Given the description of an element on the screen output the (x, y) to click on. 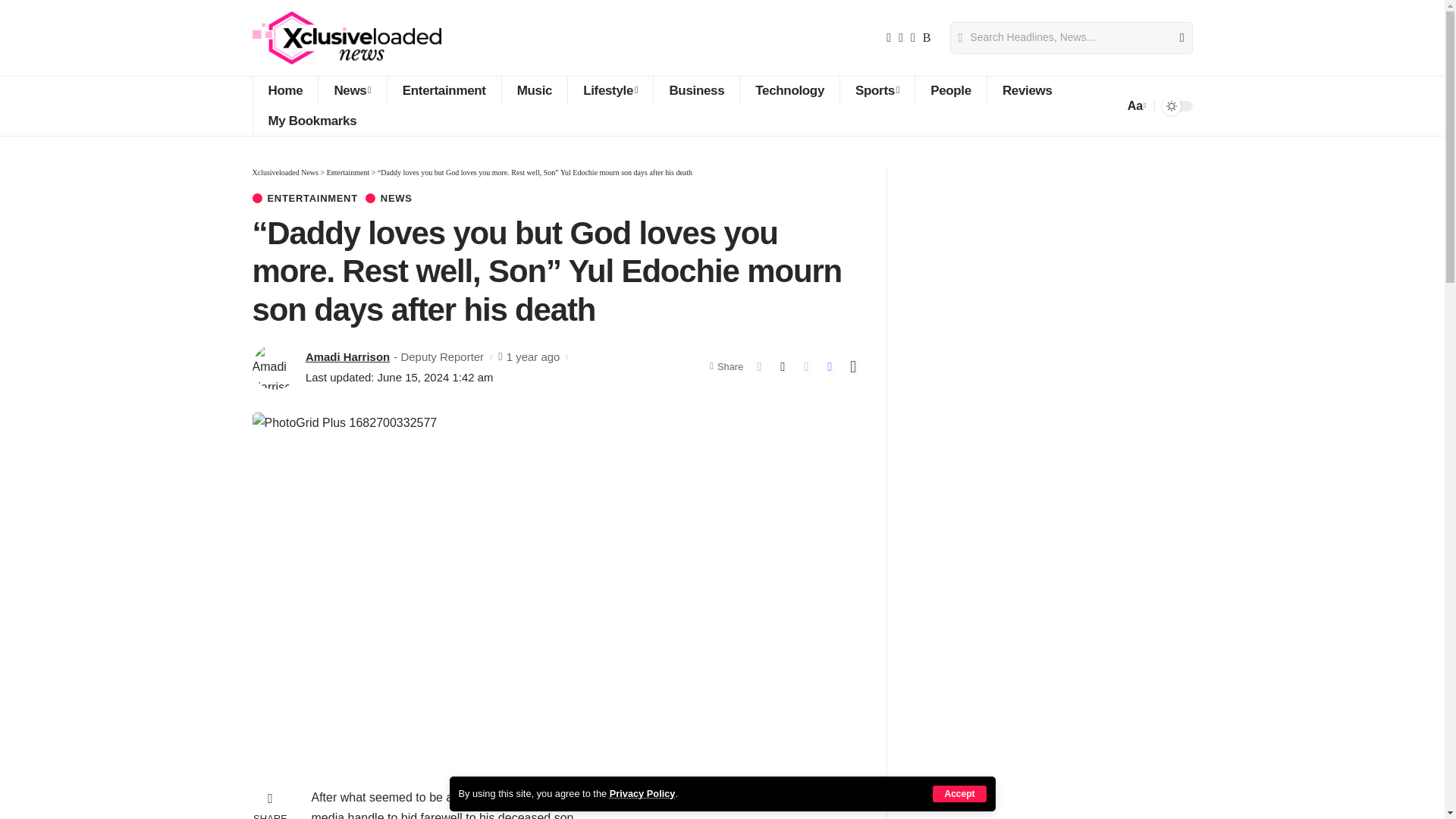
Search (1175, 37)
Reviews (1027, 91)
Go to the Entertainment Category archives. (347, 172)
Business (695, 91)
Home (284, 91)
Accept (959, 793)
Lifestyle (609, 91)
People (950, 91)
Go to Xclusiveloaded News. (284, 172)
Xclusiveloaded News (346, 37)
